Given the description of an element on the screen output the (x, y) to click on. 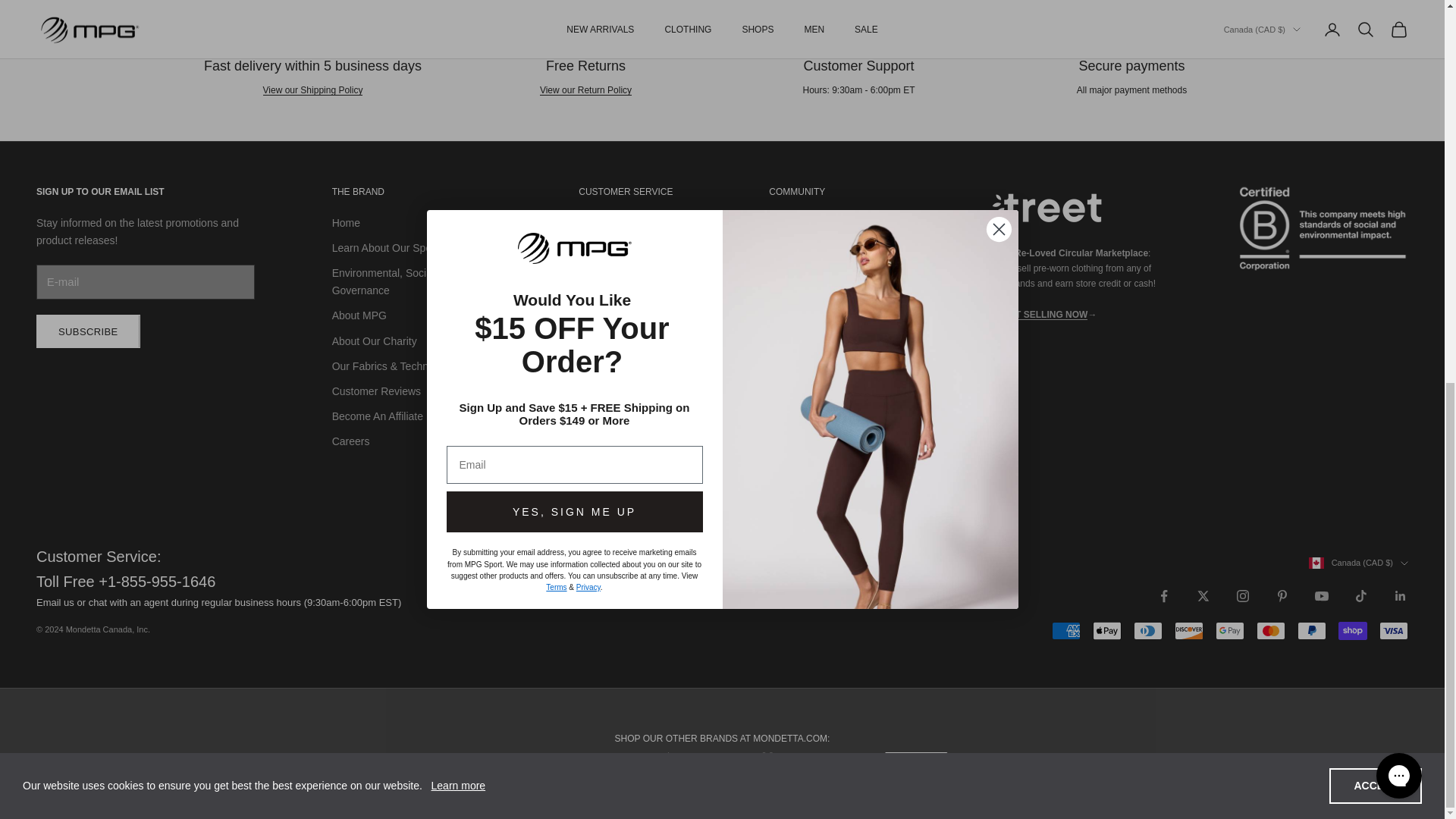
Gorgias live chat messenger (1398, 59)
